Given the description of an element on the screen output the (x, y) to click on. 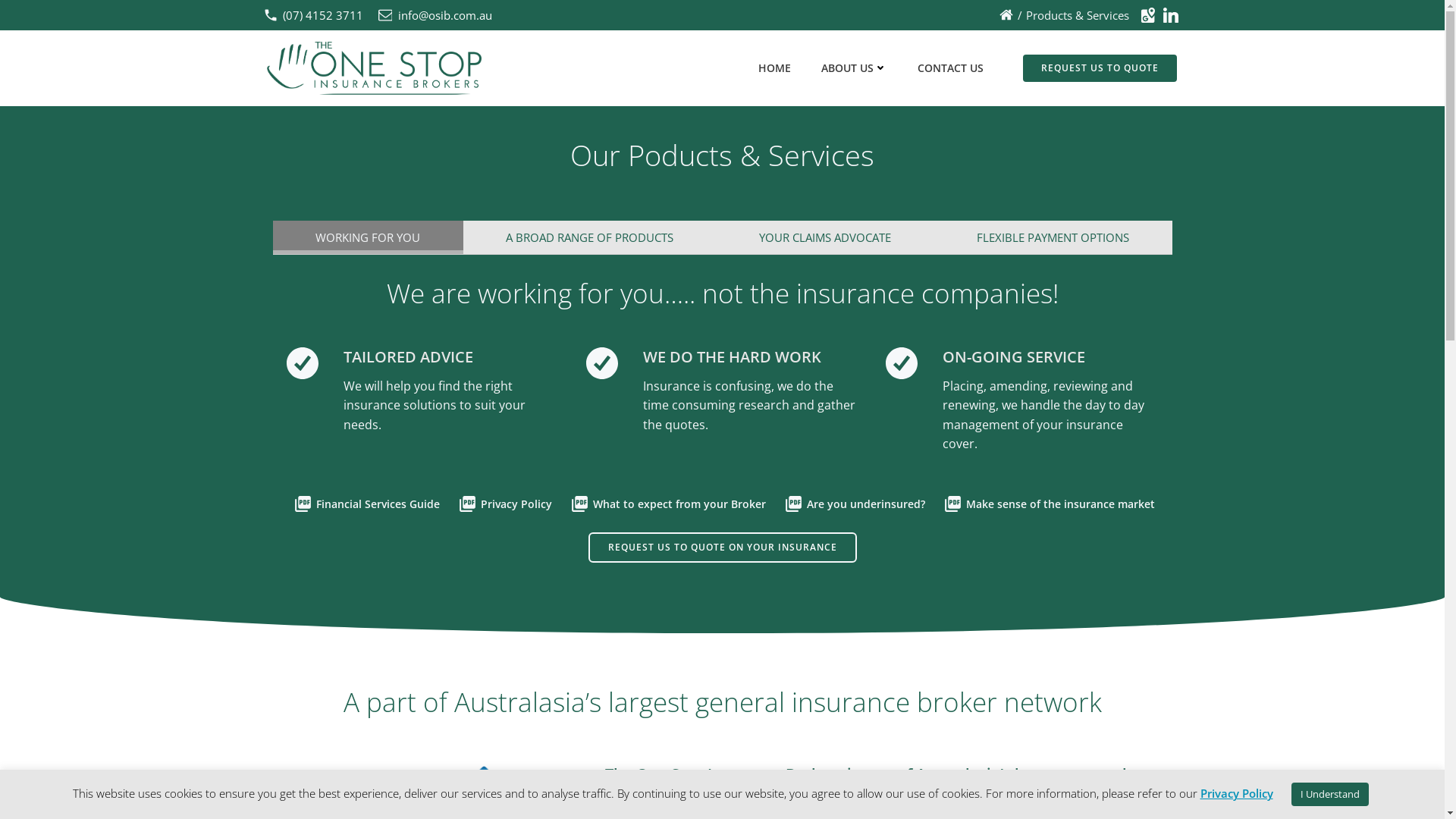
REQUEST US TO QUOTE ON YOUR INSURANCE Element type: text (722, 547)
Privacy Policy Element type: text (731, 592)
Privacy Policy Element type: text (1235, 792)
Privacy Policy Element type: text (503, 501)
Are you underinsured? Element type: text (853, 501)
I Understand Element type: text (1329, 794)
REQUEST US TO QUOTE Element type: text (1098, 68)
Make sense of the insurance market Element type: text (1047, 501)
A BROAD RANGE OF PRODUCTS Element type: text (588, 237)
FLEXIBLE PAYMENT OPTIONS Element type: text (1053, 237)
Financial Services Guide Element type: text (364, 501)
What to expect from your Broker Element type: text (666, 501)
WORKING FOR YOU Element type: text (368, 237)
YOUR CLAIMS ADVOCATE Element type: text (824, 237)
Financial Services Guide Element type: text (852, 592)
HOME Element type: text (774, 67)
CONTACT US Element type: text (950, 67)
ABOUT US Element type: text (853, 67)
